Given the description of an element on the screen output the (x, y) to click on. 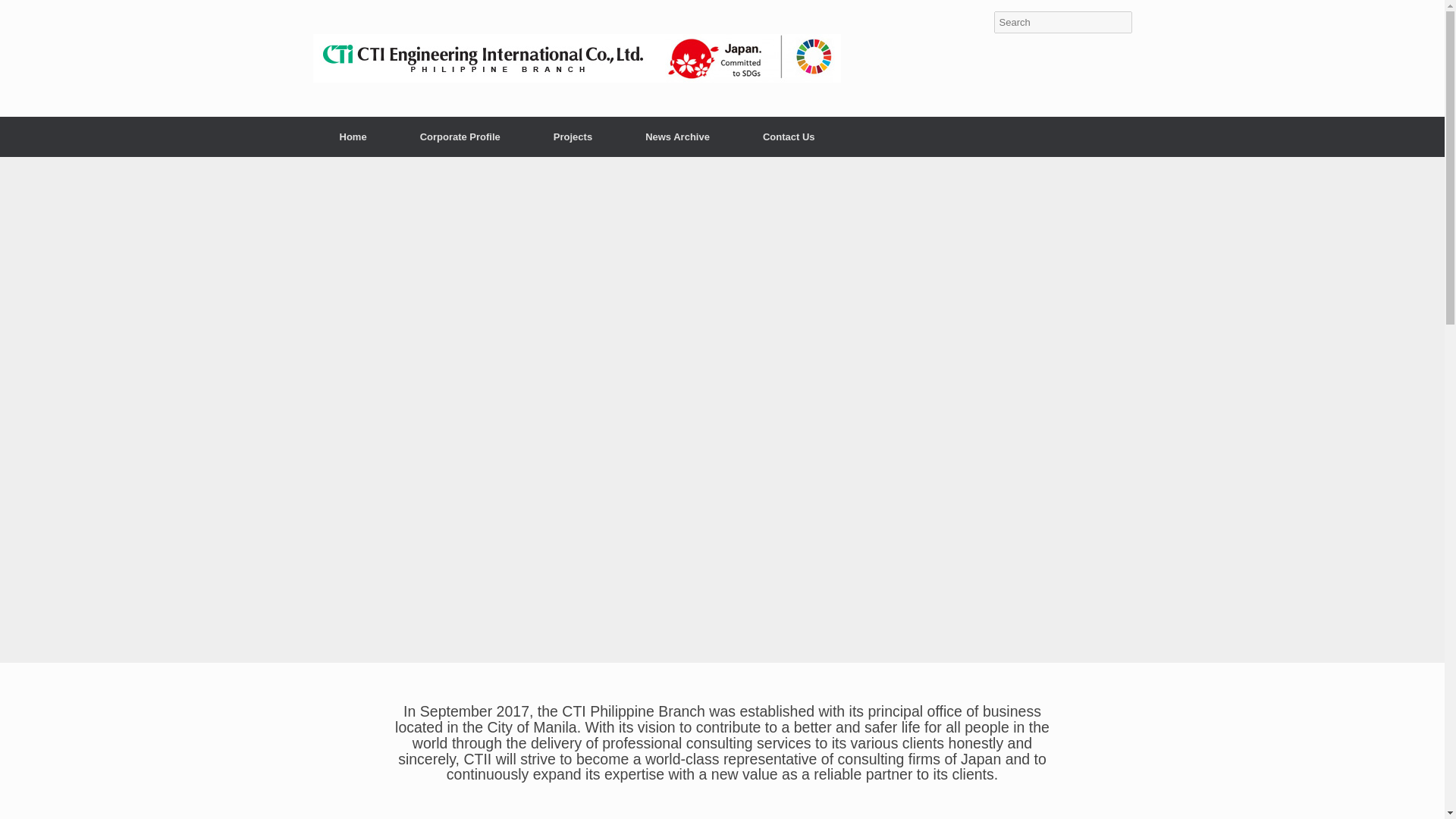
Corporate Profile (460, 137)
Contact Us (788, 137)
Home (353, 137)
Projects (572, 137)
CTII Philippine Branch (576, 58)
News Archive (677, 137)
